Given the description of an element on the screen output the (x, y) to click on. 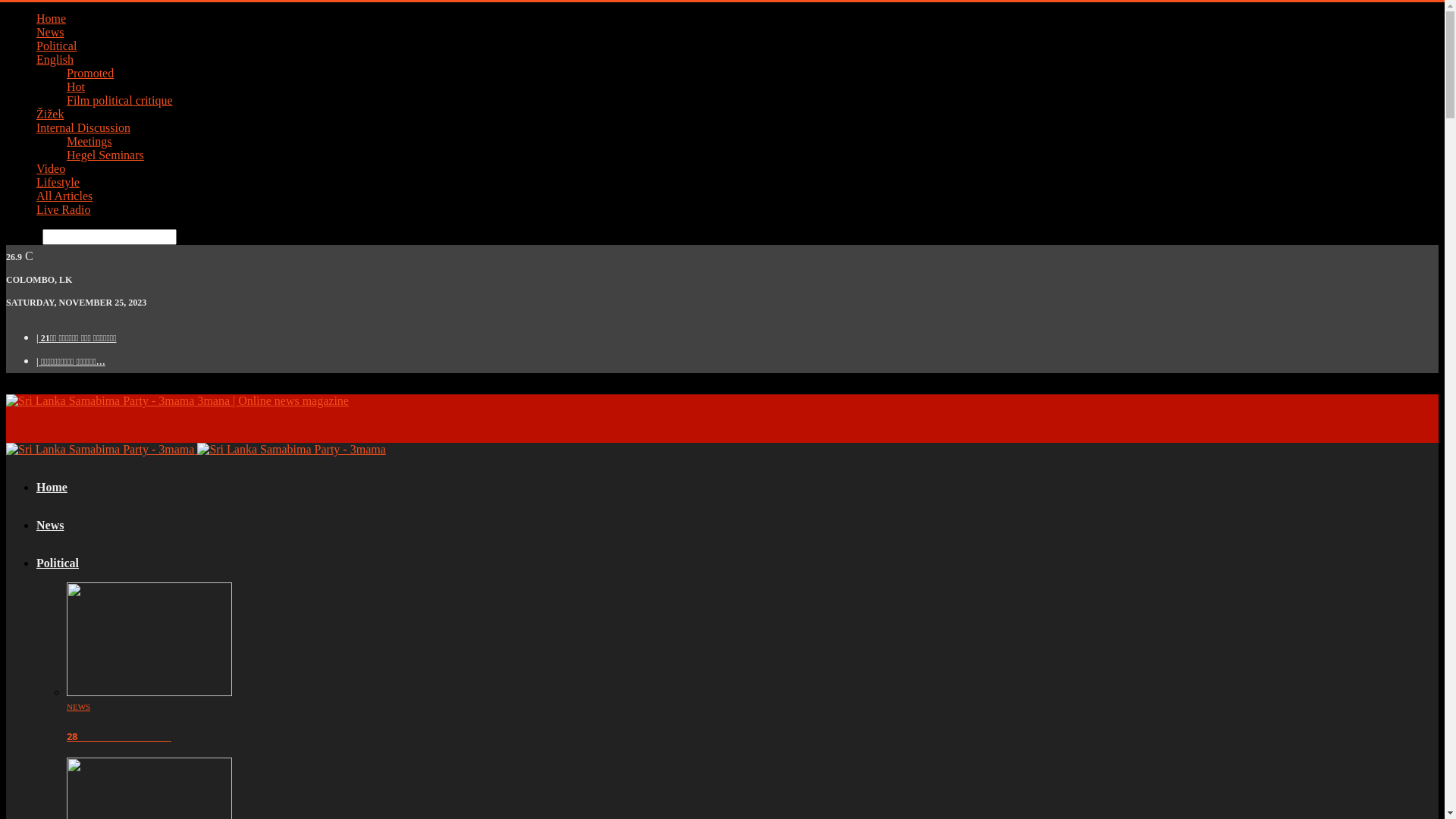
Home Element type: text (51, 486)
Sri Lanka Samabima Party - 3mana Element type: hover (100, 400)
NEWS Element type: text (78, 706)
3mana | Online news magazine Element type: text (177, 400)
Film political critique Element type: text (119, 100)
Political Element type: text (56, 45)
Live Radio Element type: text (63, 209)
All Articles Element type: text (64, 195)
Political Element type: text (57, 562)
News Element type: text (49, 524)
Meetings Element type: text (89, 140)
Hegel Seminars Element type: text (105, 154)
Video Element type: text (50, 168)
Hot Element type: text (75, 86)
News Element type: text (49, 31)
Home Element type: text (50, 18)
Promoted Element type: text (89, 72)
Internal Discussion Element type: text (83, 127)
Lifestyle Element type: text (57, 181)
English Element type: text (54, 59)
Sri Lanka Samabima Party - 3mana Element type: hover (291, 449)
Sri Lanka Samabima Party - 3mana Element type: hover (100, 449)
